Given the description of an element on the screen output the (x, y) to click on. 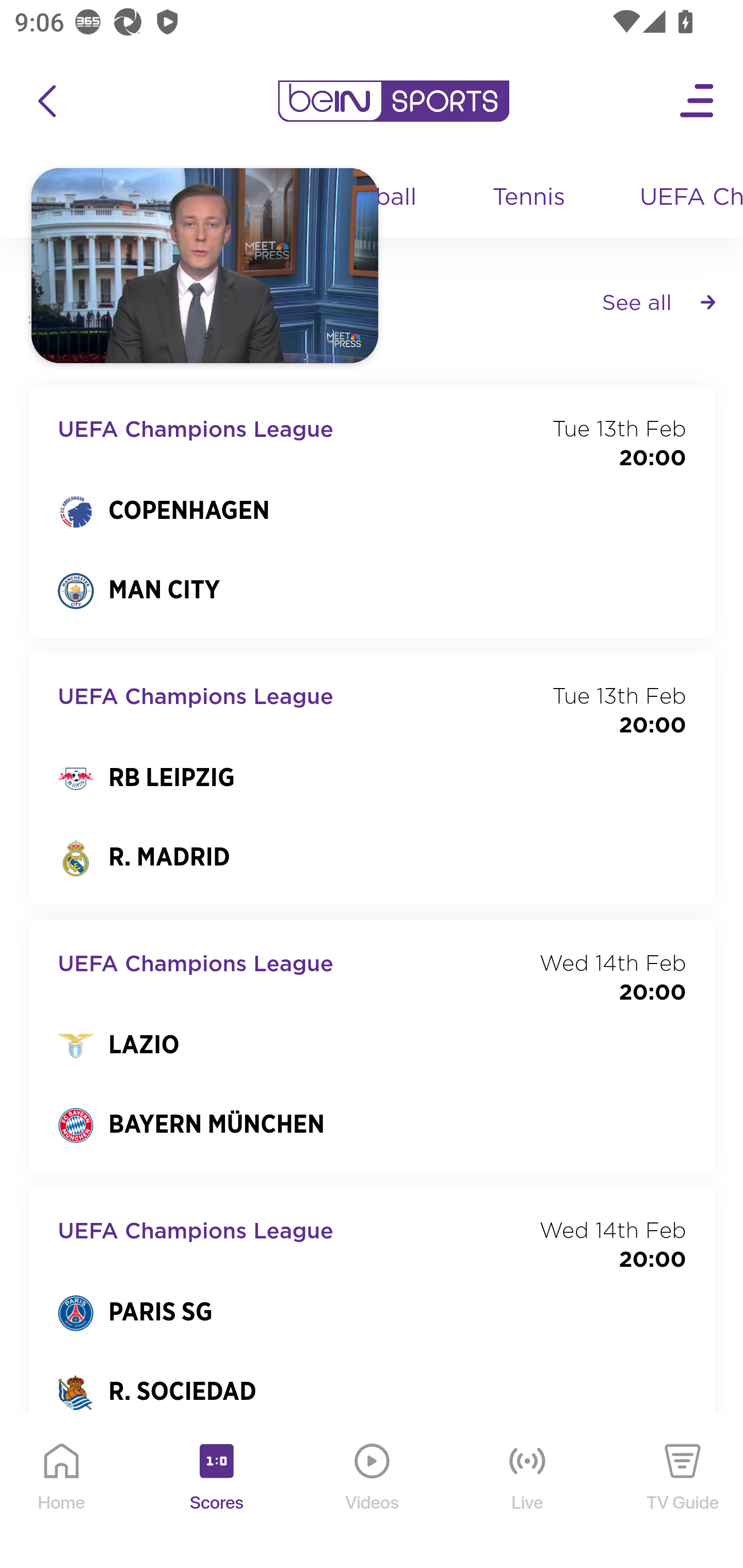
en-my?platform=mobile_android bein logo (392, 101)
icon back (46, 101)
Open Menu Icon (697, 101)
Tennis (530, 198)
UEFA Champions League (683, 198)
See all (658, 301)
Home Home Icon Home (61, 1491)
Scores Scores Icon Scores (216, 1491)
Videos Videos Icon Videos (372, 1491)
TV Guide TV Guide Icon TV Guide (682, 1491)
